Given the description of an element on the screen output the (x, y) to click on. 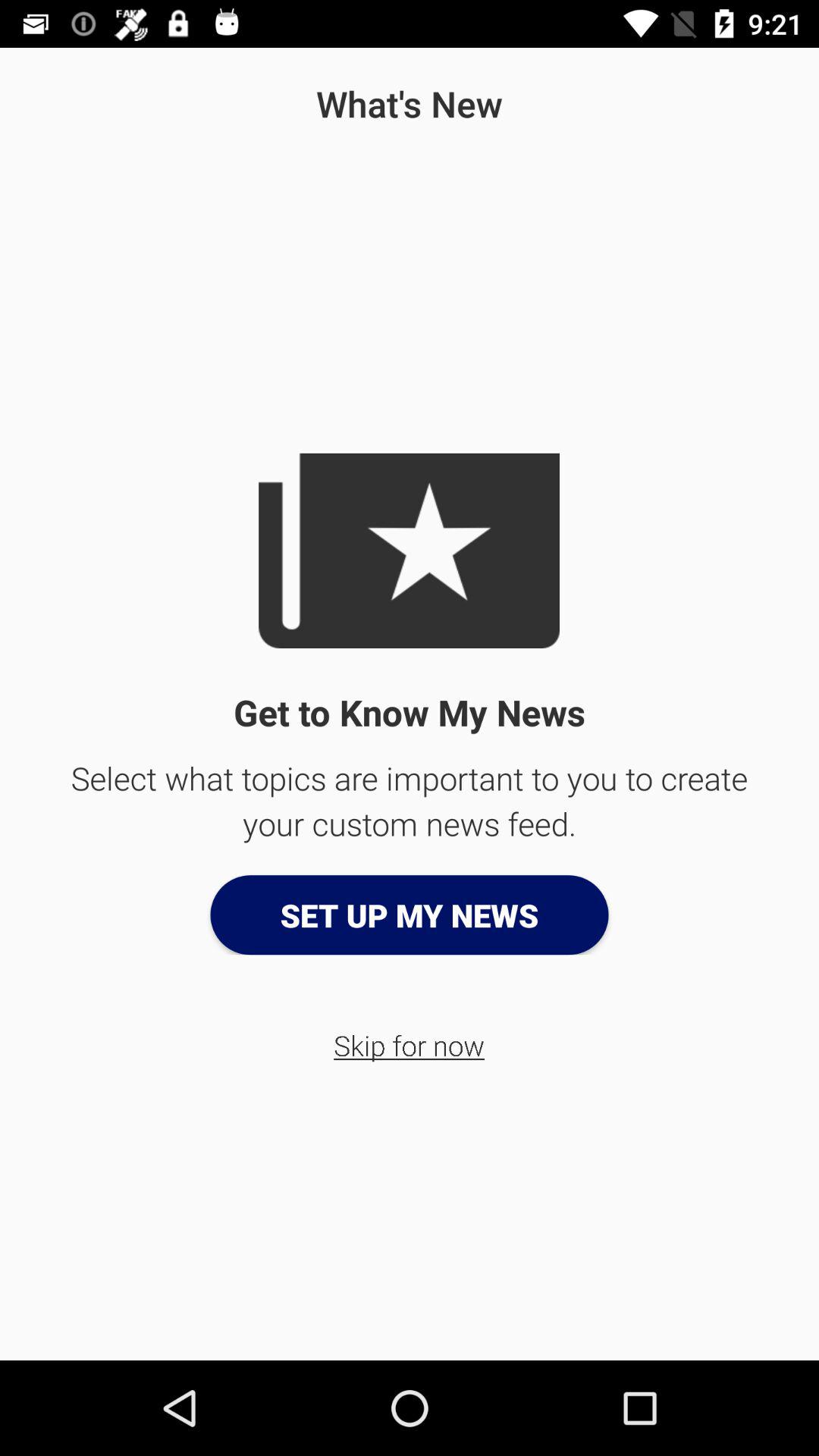
press the icon above the skip for now app (409, 914)
